Given the description of an element on the screen output the (x, y) to click on. 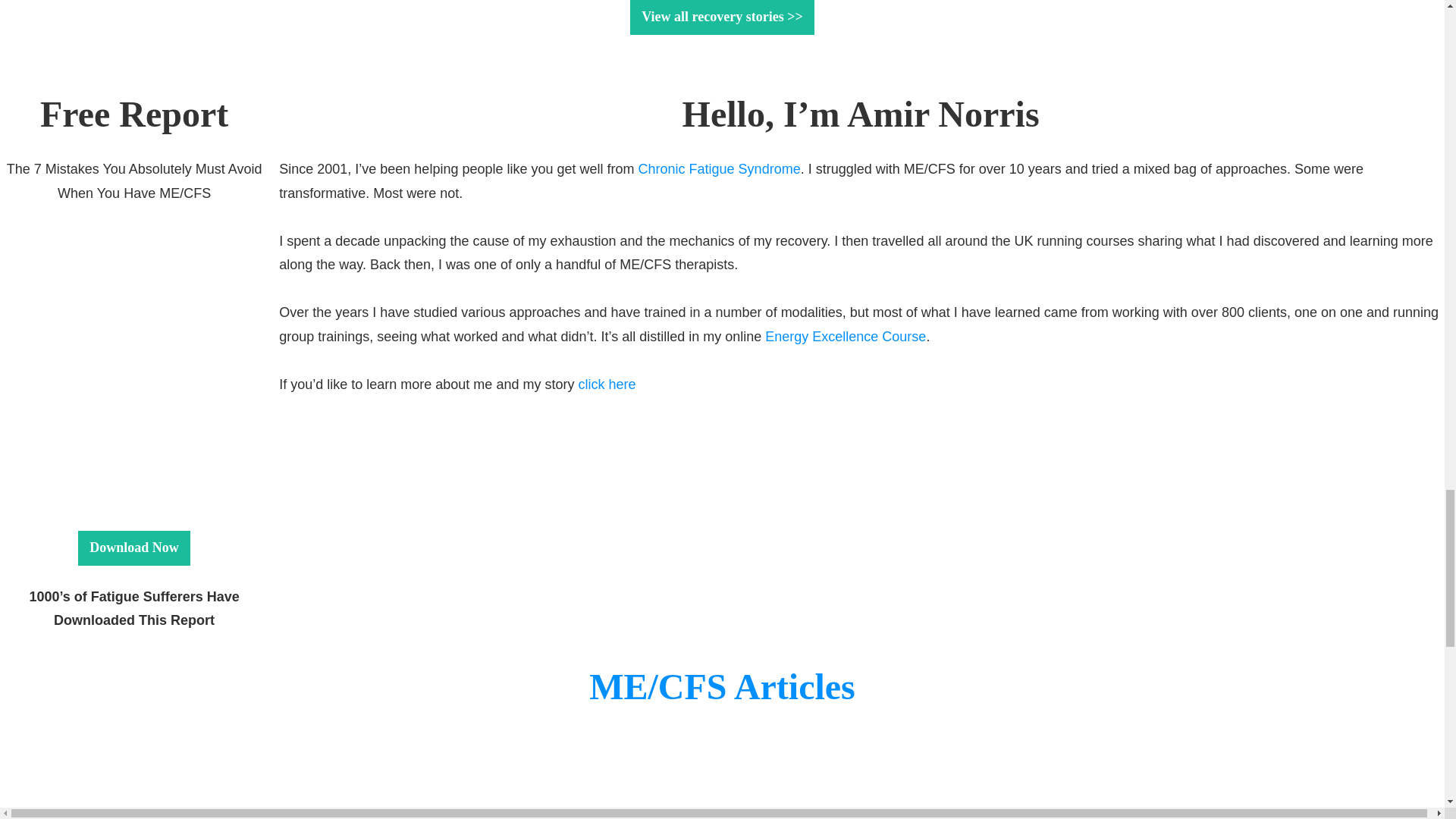
Myalgic Encephalomyelitis Symptoms (256, 789)
click here (606, 384)
Responsive Video (116, 286)
Chronic Fatigue Syndrome Symptoms (793, 789)
Download Now (134, 547)
Energy Excellence Course (845, 336)
Chronic Fatigue Syndrome (719, 168)
What is Chronic Fatigue Syndrome (1258, 789)
